Given the description of an element on the screen output the (x, y) to click on. 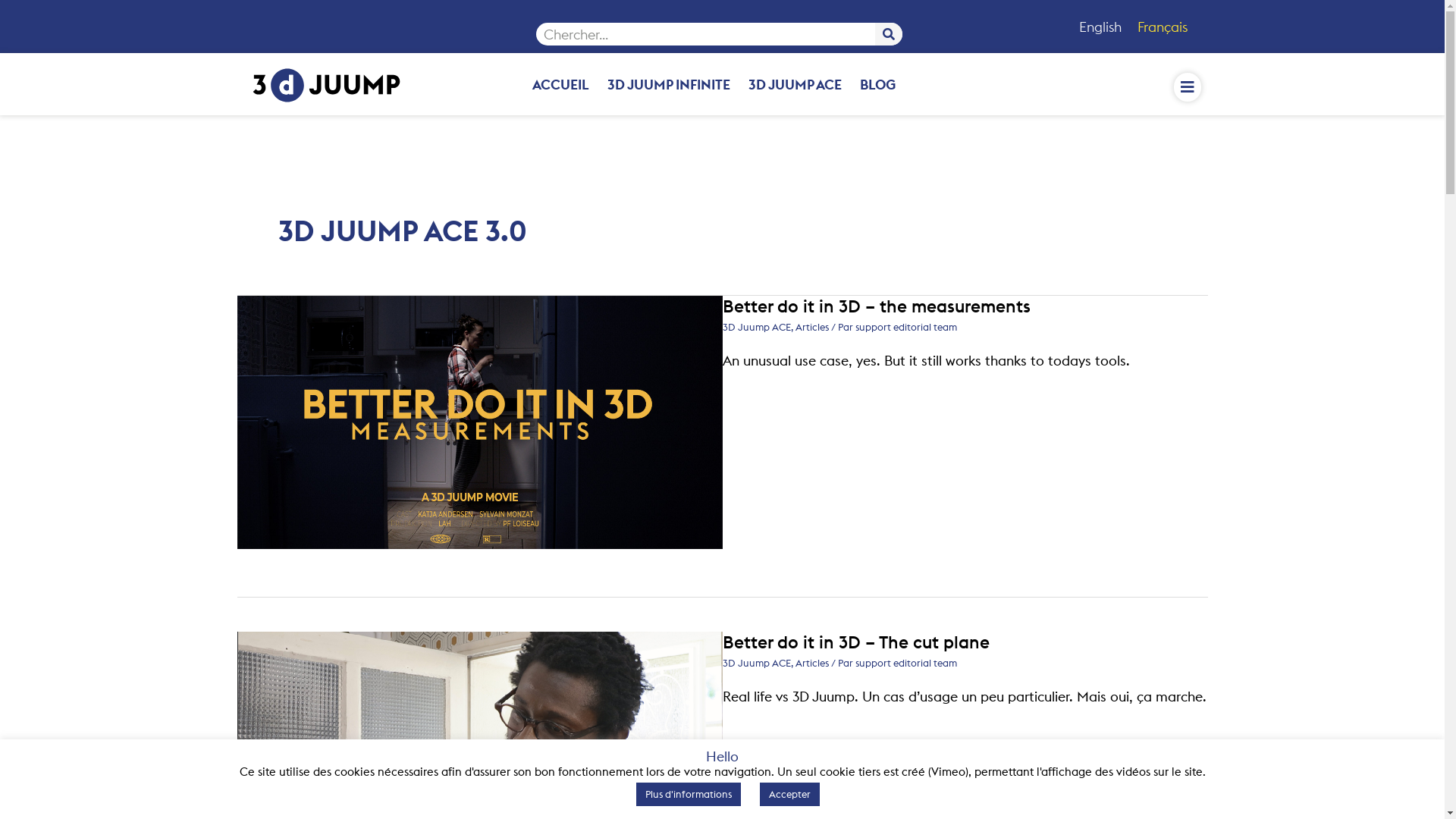
BLOG Element type: text (877, 84)
English Element type: text (1098, 26)
Articles Element type: text (811, 662)
support editorial team Element type: text (906, 326)
Rechercher Element type: text (888, 33)
3D JUUMP INFINITE Element type: text (668, 84)
3D Juump ACE Element type: text (755, 326)
Accepter Element type: text (789, 794)
3D Juump ACE Element type: text (755, 662)
ACCUEIL Element type: text (560, 84)
Plus d'informations Element type: text (688, 794)
Articles Element type: text (811, 326)
support editorial team Element type: text (906, 662)
3D JUUMP ACE Element type: text (794, 84)
